Given the description of an element on the screen output the (x, y) to click on. 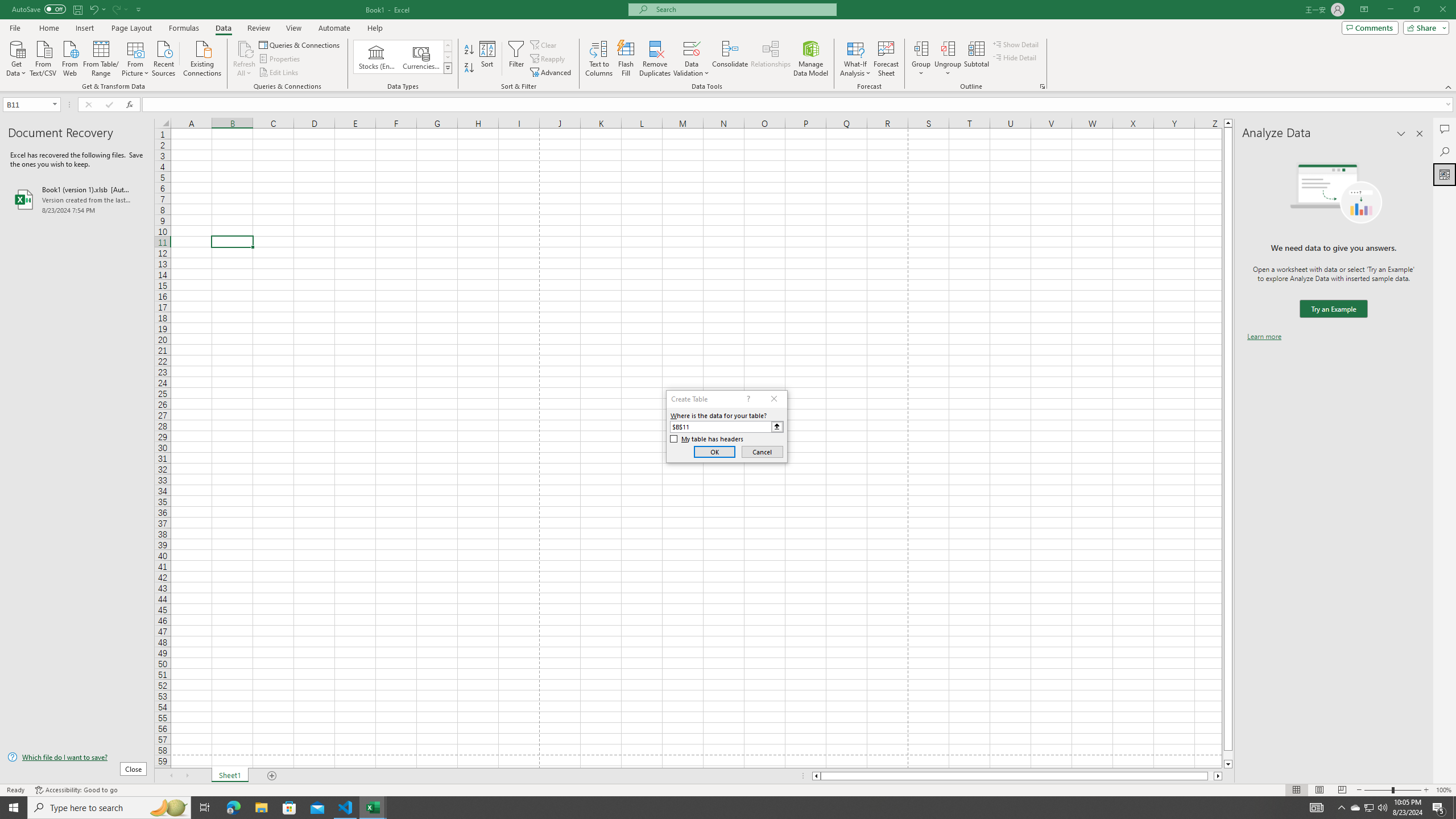
Consolidate... (729, 58)
AutomationID: ConvertToLinkedEntity (403, 56)
